Given the description of an element on the screen output the (x, y) to click on. 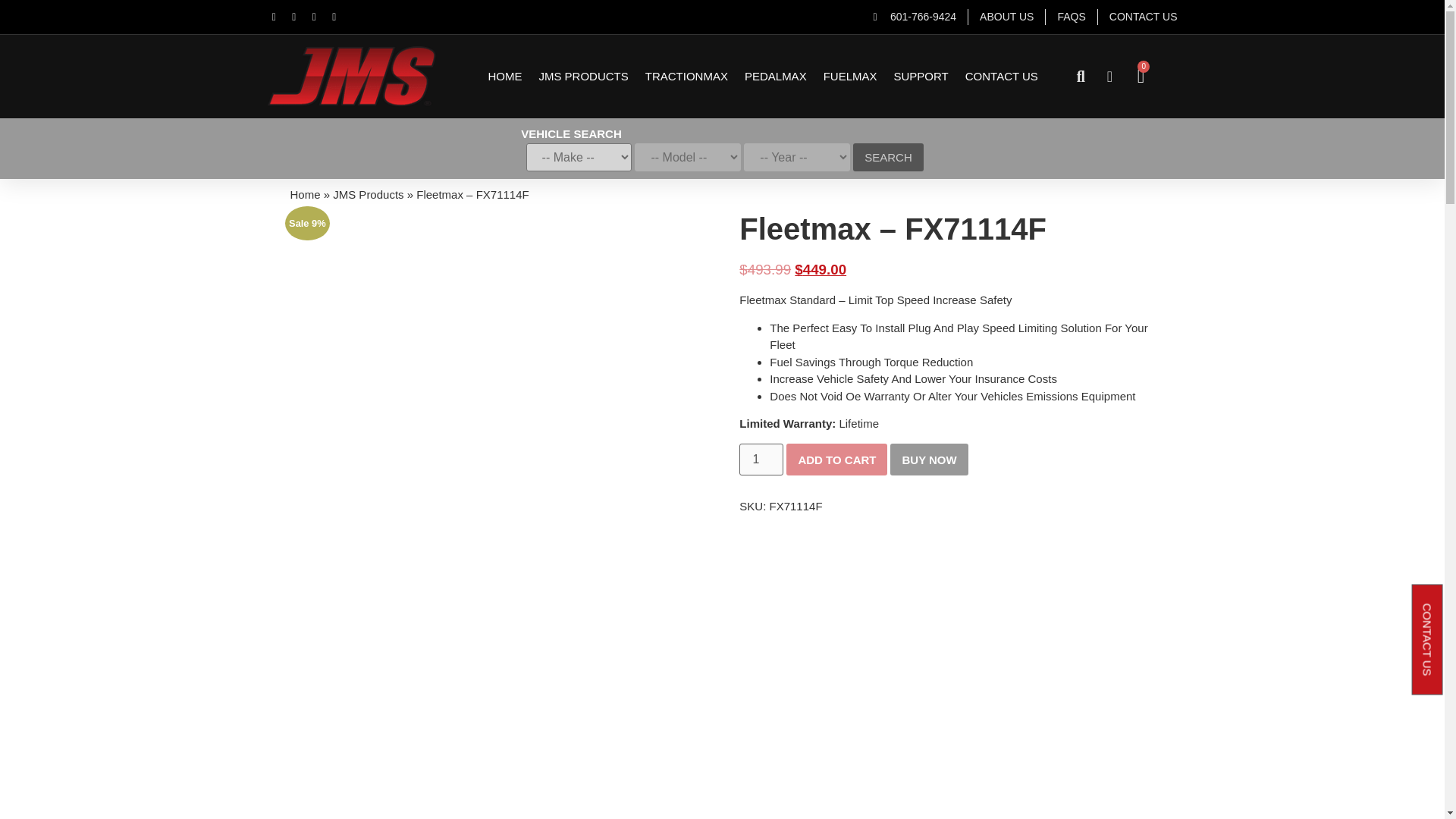
ABOUT US (1006, 17)
FUELMAX (850, 76)
1 (761, 459)
HOME (504, 76)
CONTACT US (1143, 17)
Search (888, 157)
601-766-9424 (914, 17)
SUPPORT (920, 76)
PEDALMAX (775, 76)
JMS PRODUCTS (582, 76)
